Given the description of an element on the screen output the (x, y) to click on. 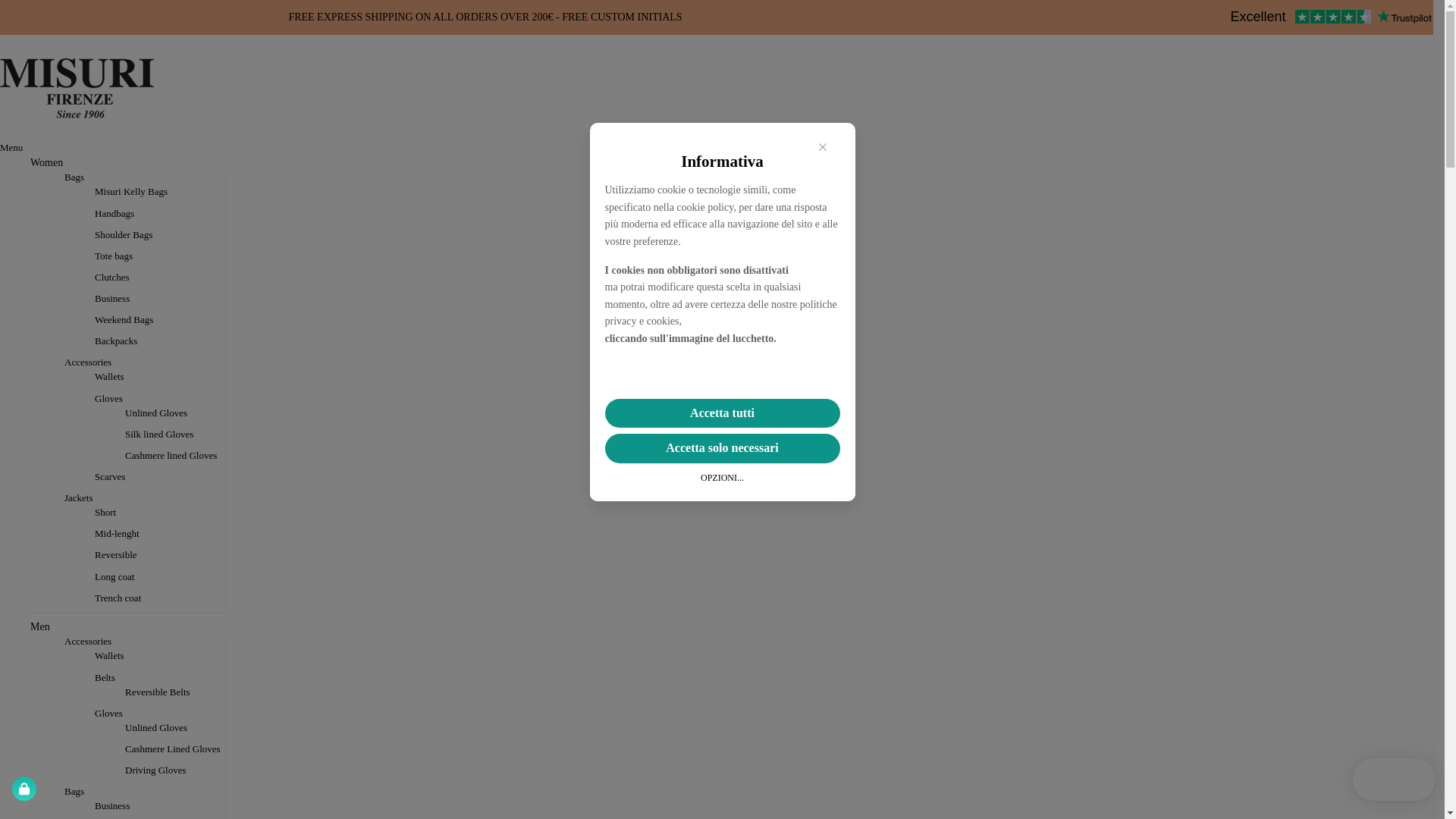
Weekend Bags (123, 318)
Reversible (115, 553)
Mid-lenght (116, 532)
Backpacks (115, 339)
Belts (104, 676)
Gloves (108, 397)
Scarves (109, 475)
Menu (11, 147)
Gloves (108, 397)
Business (111, 804)
Accessories (88, 361)
Casual (107, 817)
Cashmere lined Gloves (170, 454)
Reversible Belts (156, 691)
Unlined Gloves (155, 726)
